Given the description of an element on the screen output the (x, y) to click on. 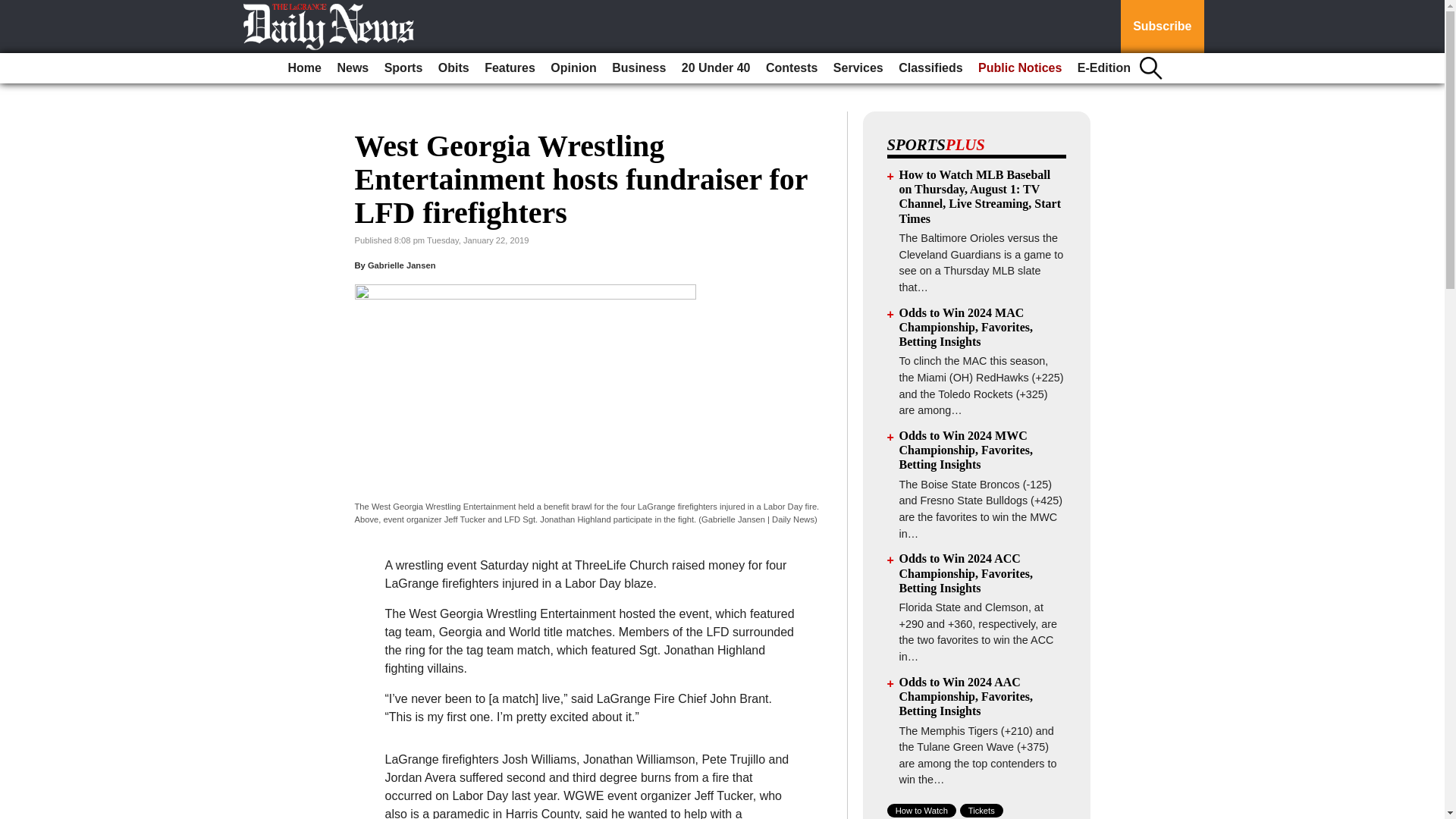
Home (304, 68)
News (352, 68)
Public Notices (1019, 68)
Tickets (981, 810)
20 Under 40 (716, 68)
Features (510, 68)
Classifieds (930, 68)
Services (858, 68)
E-Edition (1104, 68)
